Given the description of an element on the screen output the (x, y) to click on. 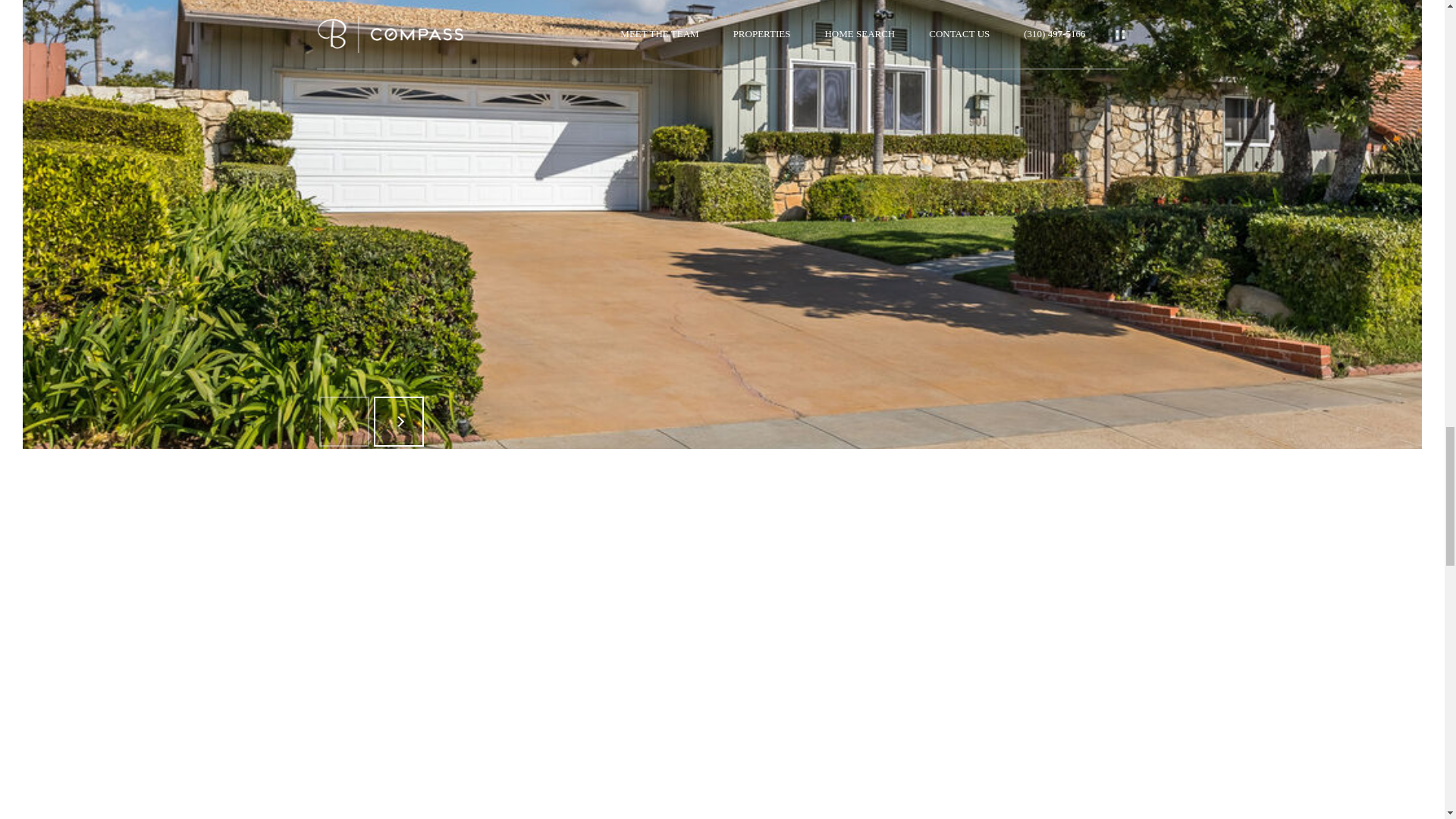
Next (397, 421)
Previous (343, 421)
